Given the description of an element on the screen output the (x, y) to click on. 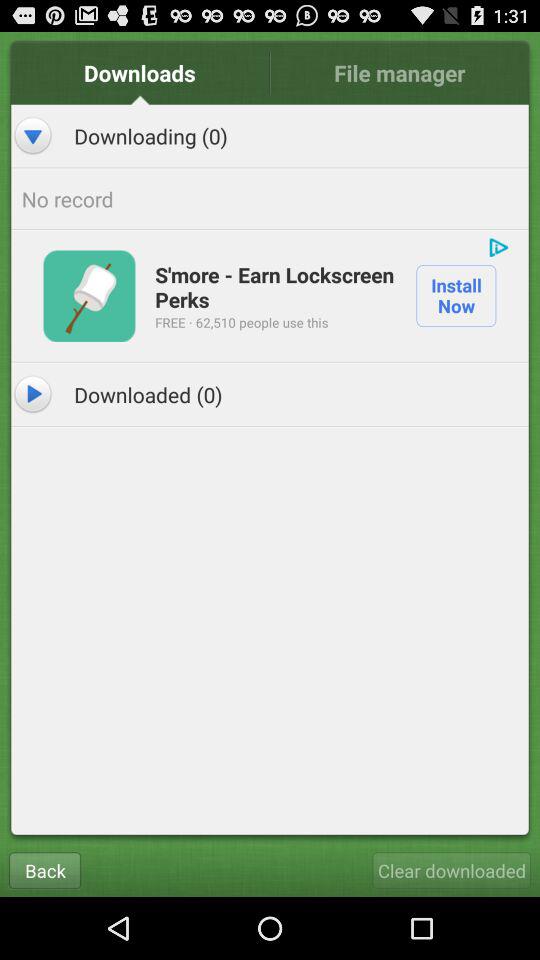
choose the free 62 510 item (241, 322)
